Given the description of an element on the screen output the (x, y) to click on. 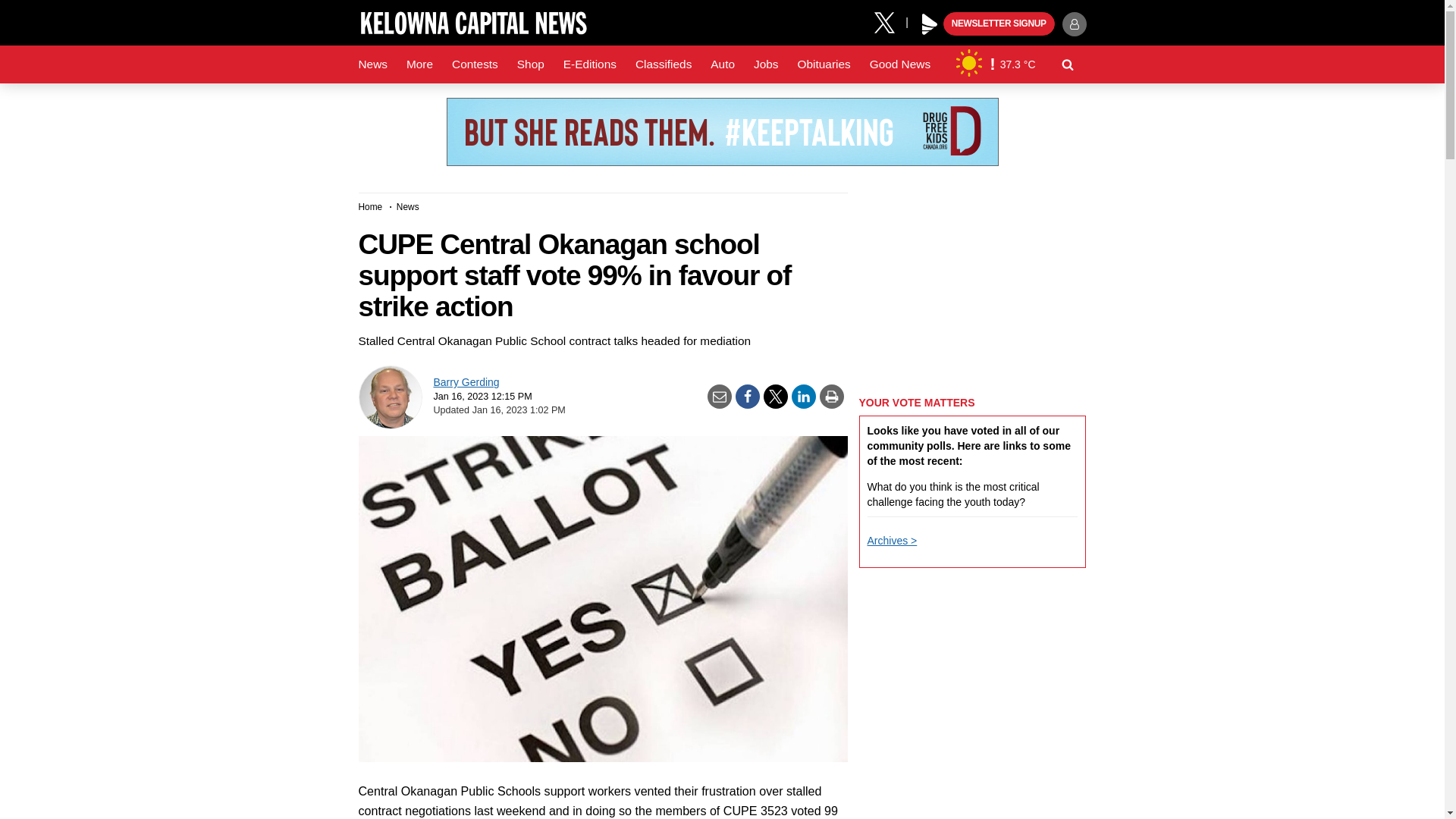
News (372, 64)
Play (929, 24)
X (889, 21)
NEWSLETTER SIGNUP (998, 24)
Black Press Media (929, 24)
3rd party ad content (721, 131)
